Given the description of an element on the screen output the (x, y) to click on. 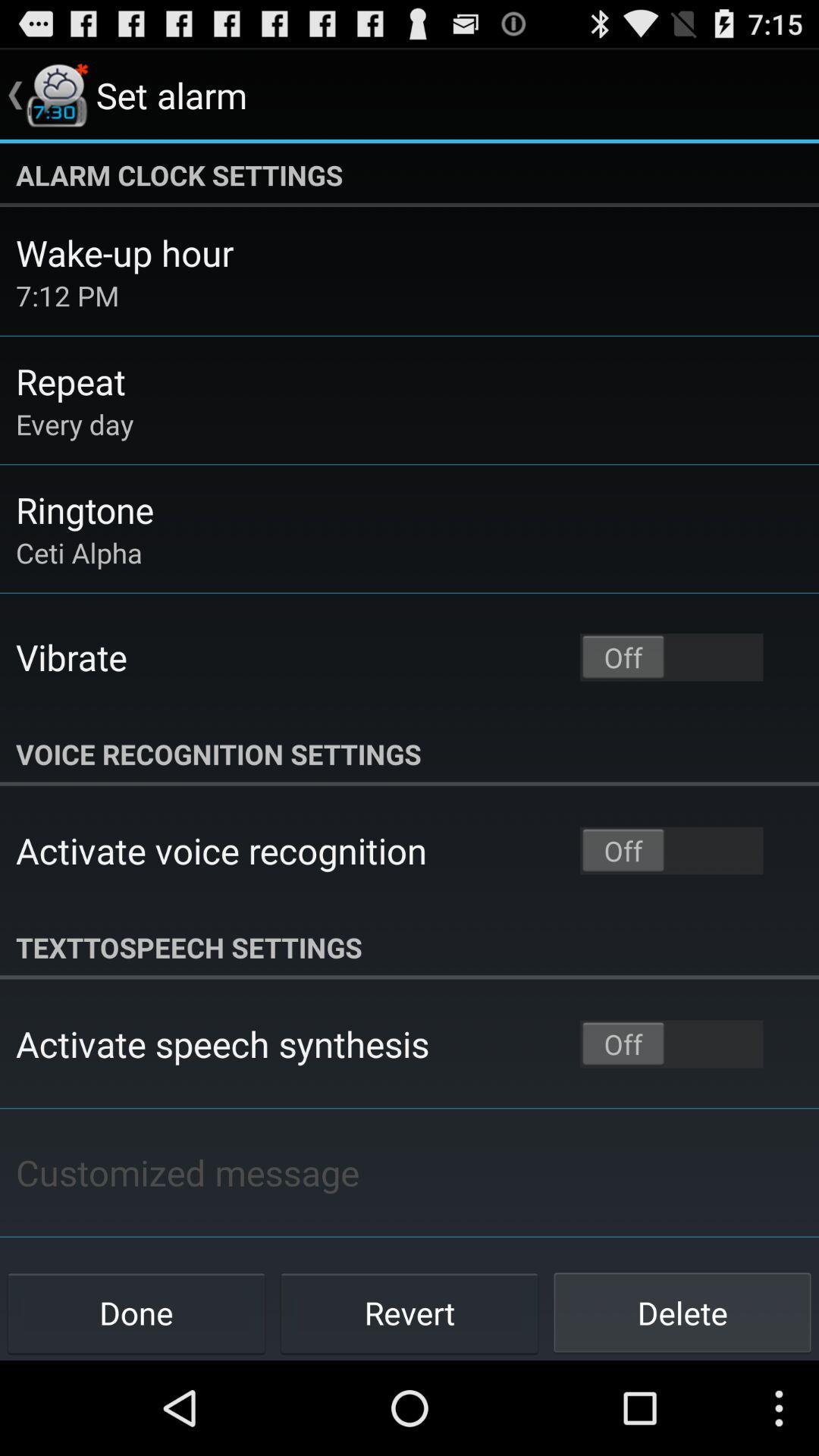
turn off app below the alarm clock settings item (124, 252)
